Given the description of an element on the screen output the (x, y) to click on. 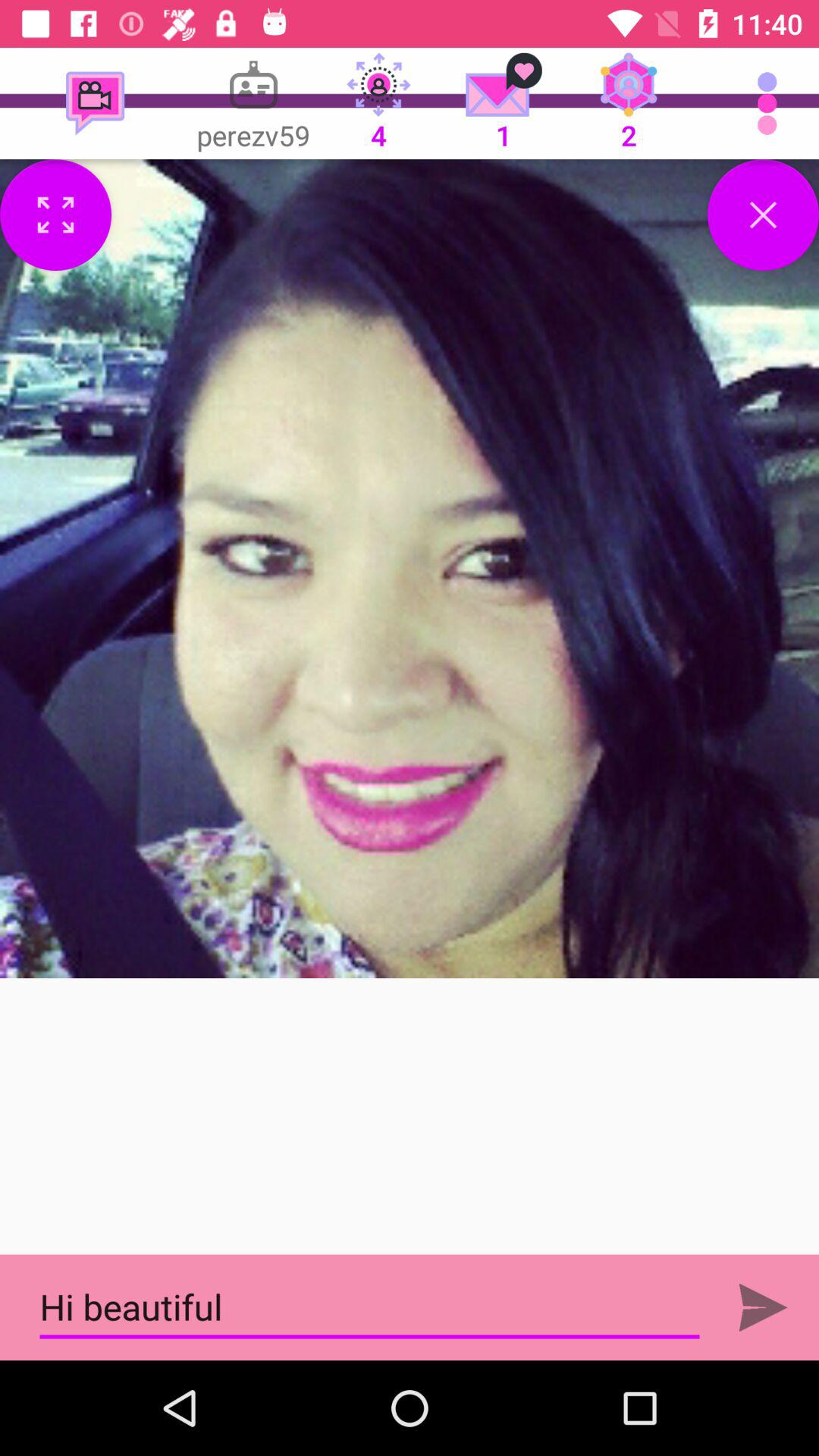
view full screen (55, 214)
